Given the description of an element on the screen output the (x, y) to click on. 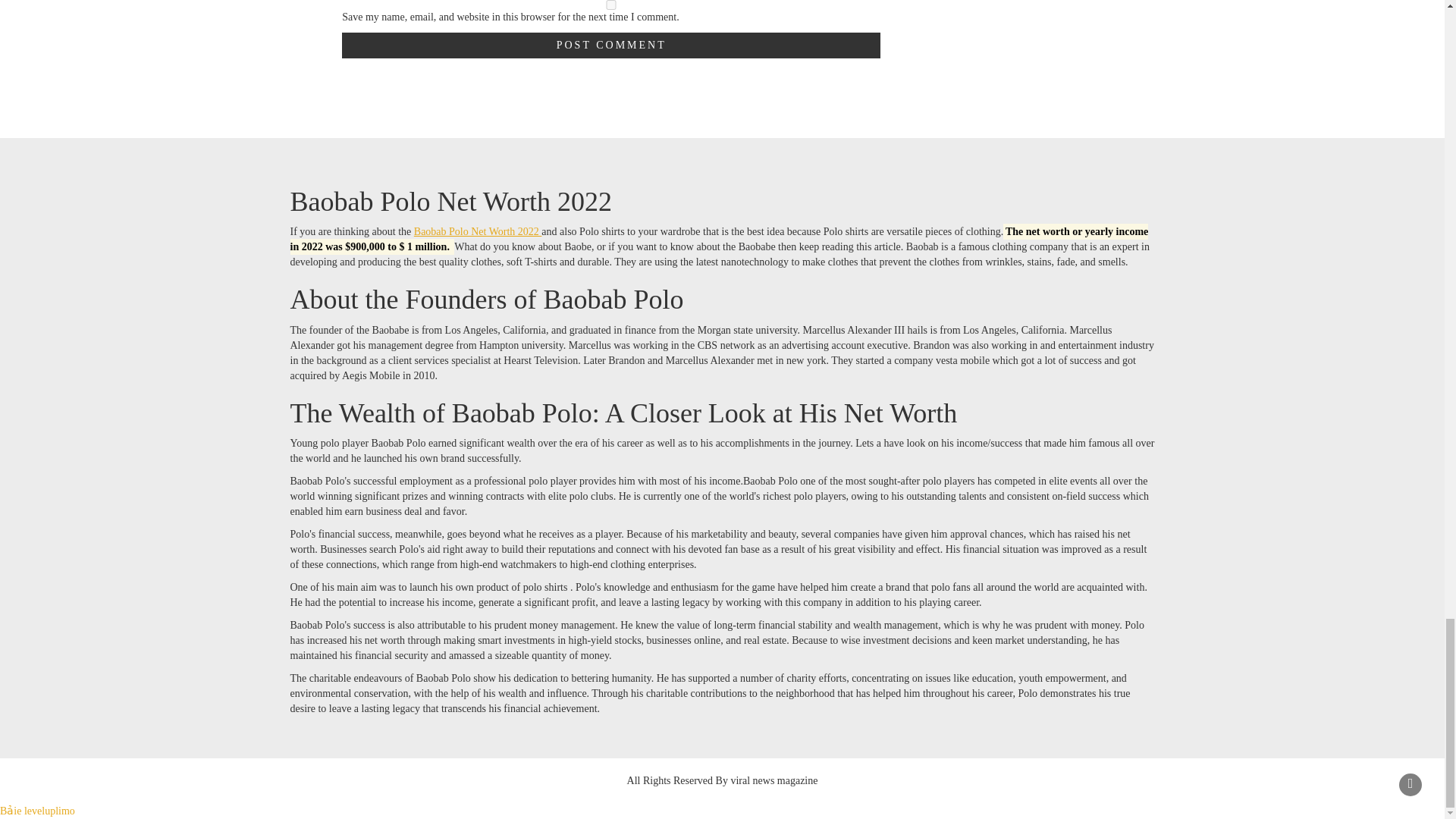
Post Comment (611, 45)
yes (611, 4)
Post Comment (611, 45)
